Given the description of an element on the screen output the (x, y) to click on. 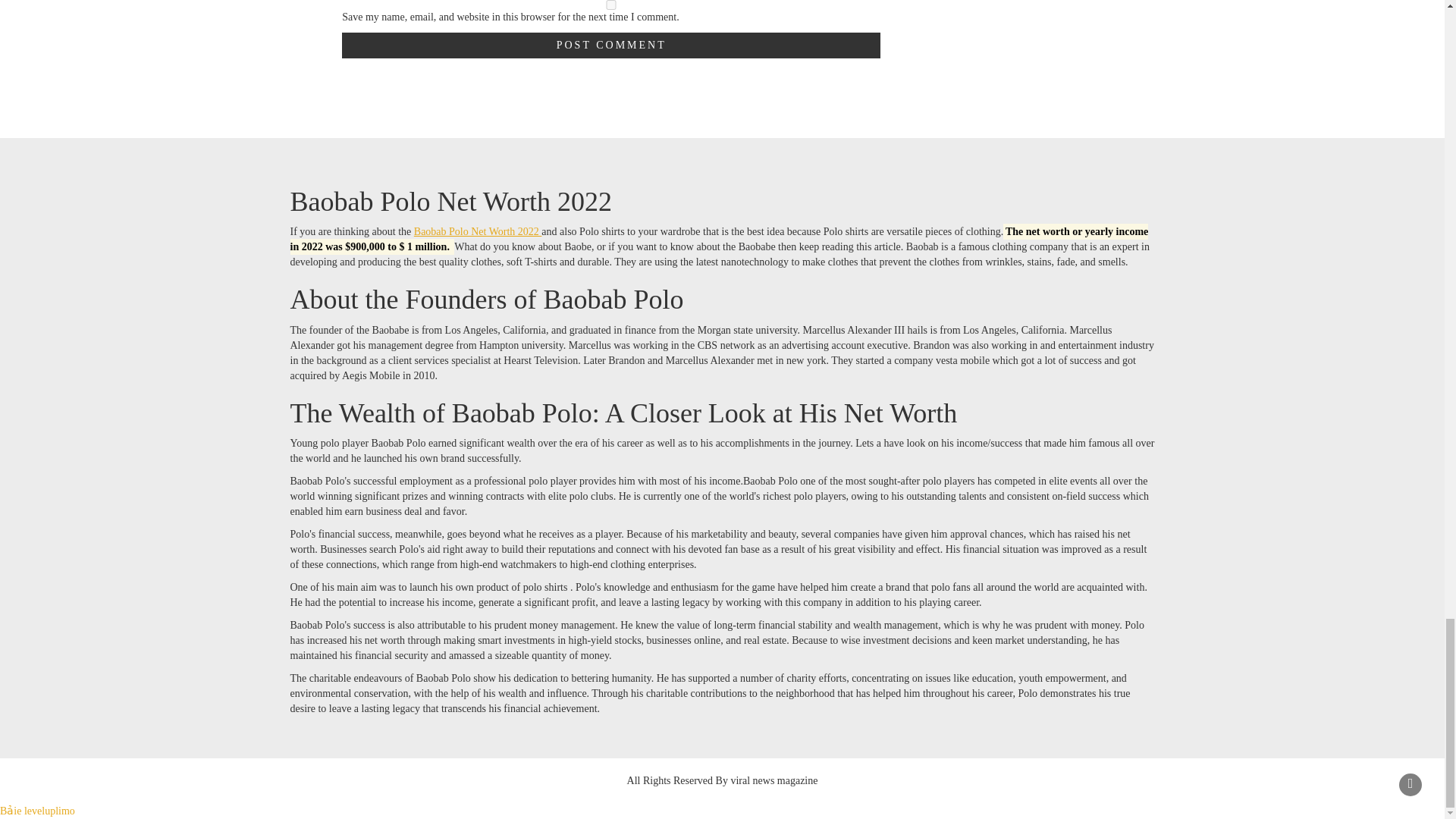
Post Comment (611, 45)
yes (611, 4)
Post Comment (611, 45)
